Given the description of an element on the screen output the (x, y) to click on. 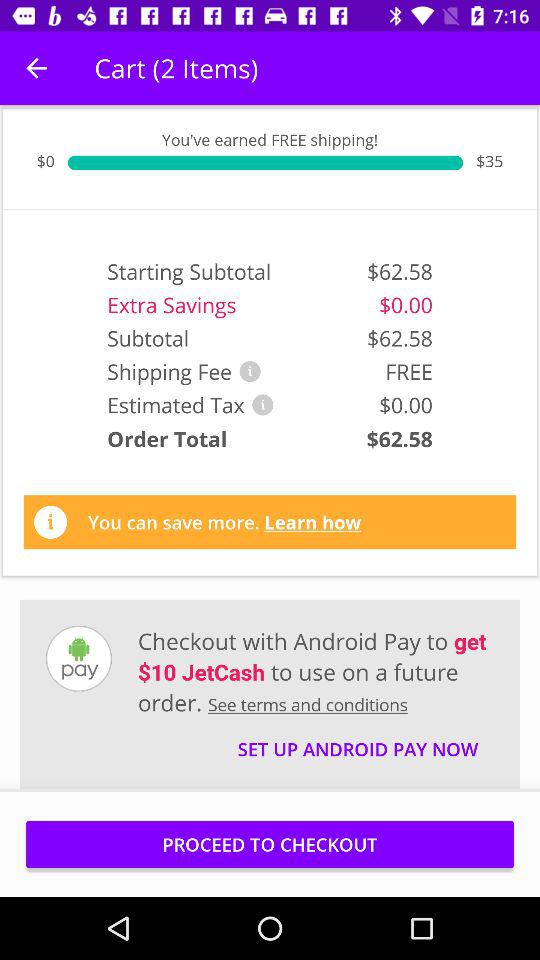
click the you can save item (224, 522)
